Given the description of an element on the screen output the (x, y) to click on. 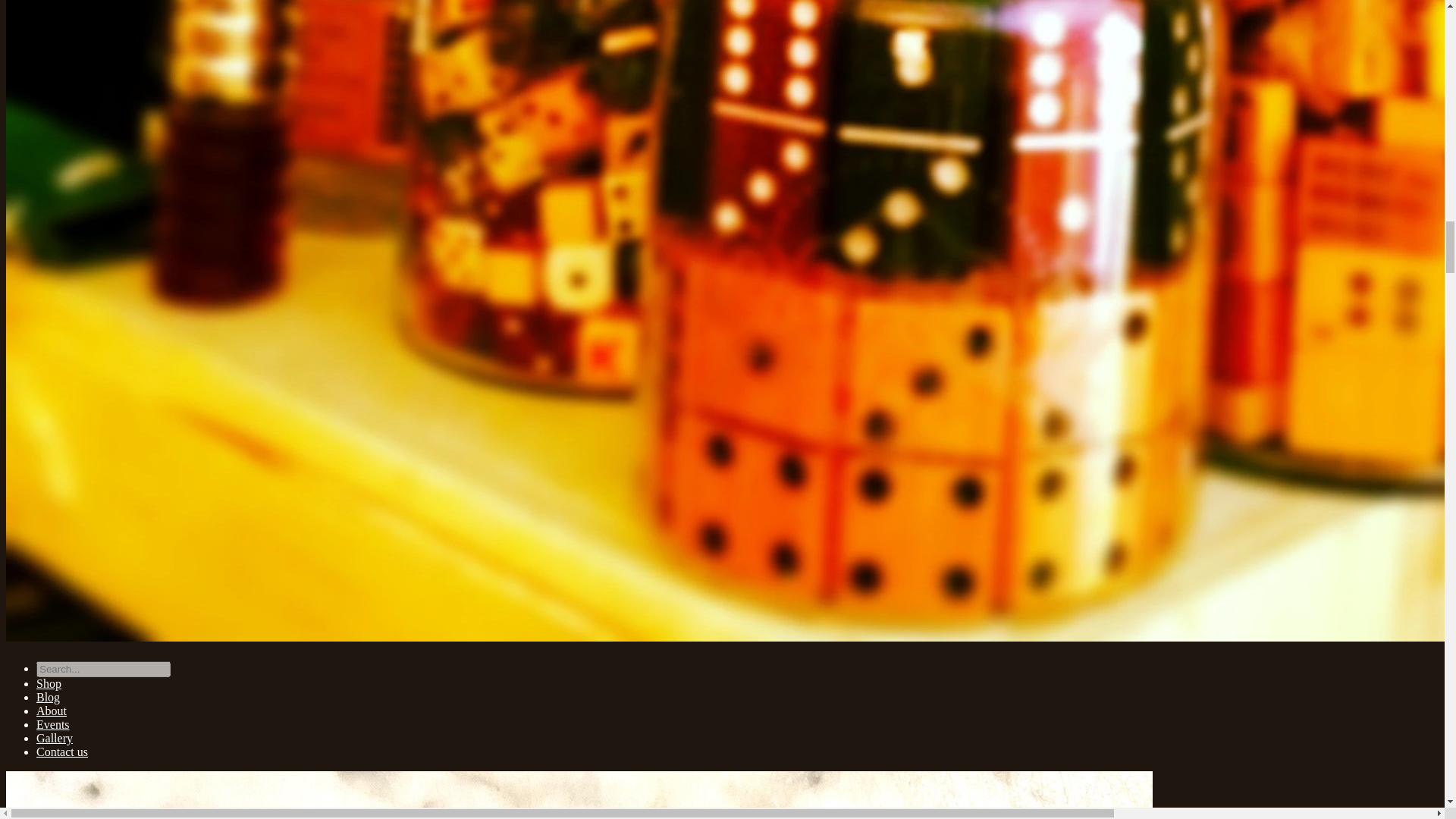
Shop (48, 683)
Contact us (61, 751)
Gallery (54, 738)
Events (52, 724)
About (51, 710)
Blog (47, 697)
